Given the description of an element on the screen output the (x, y) to click on. 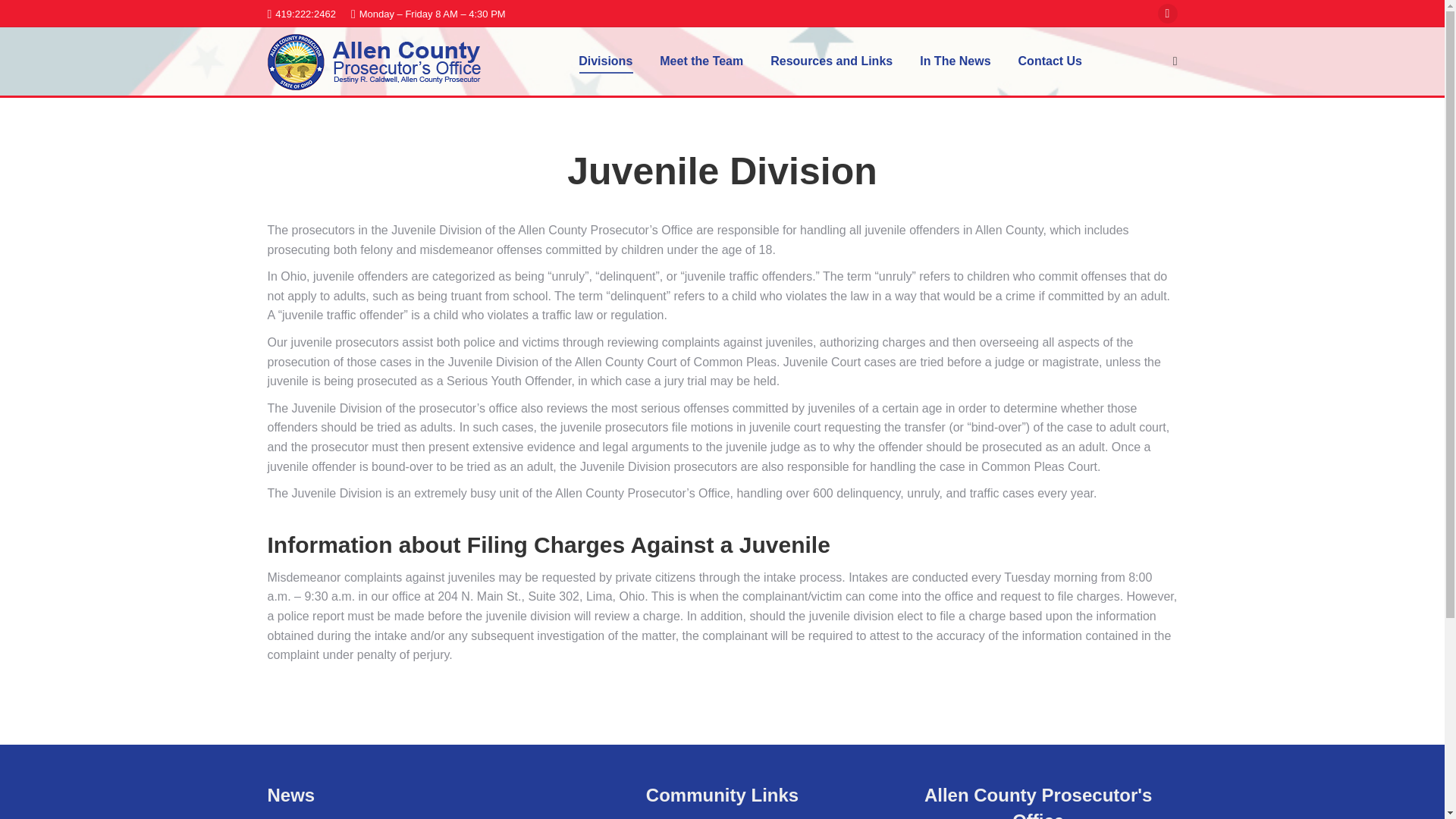
Resources and Links (831, 60)
Divisions (604, 60)
419:222:2462 (300, 12)
Facebook page opens in new window (1166, 13)
Meet the Team (700, 60)
In The News (954, 60)
Contact Us (1049, 60)
Go! (24, 16)
Facebook page opens in new window (1166, 13)
